Given the description of an element on the screen output the (x, y) to click on. 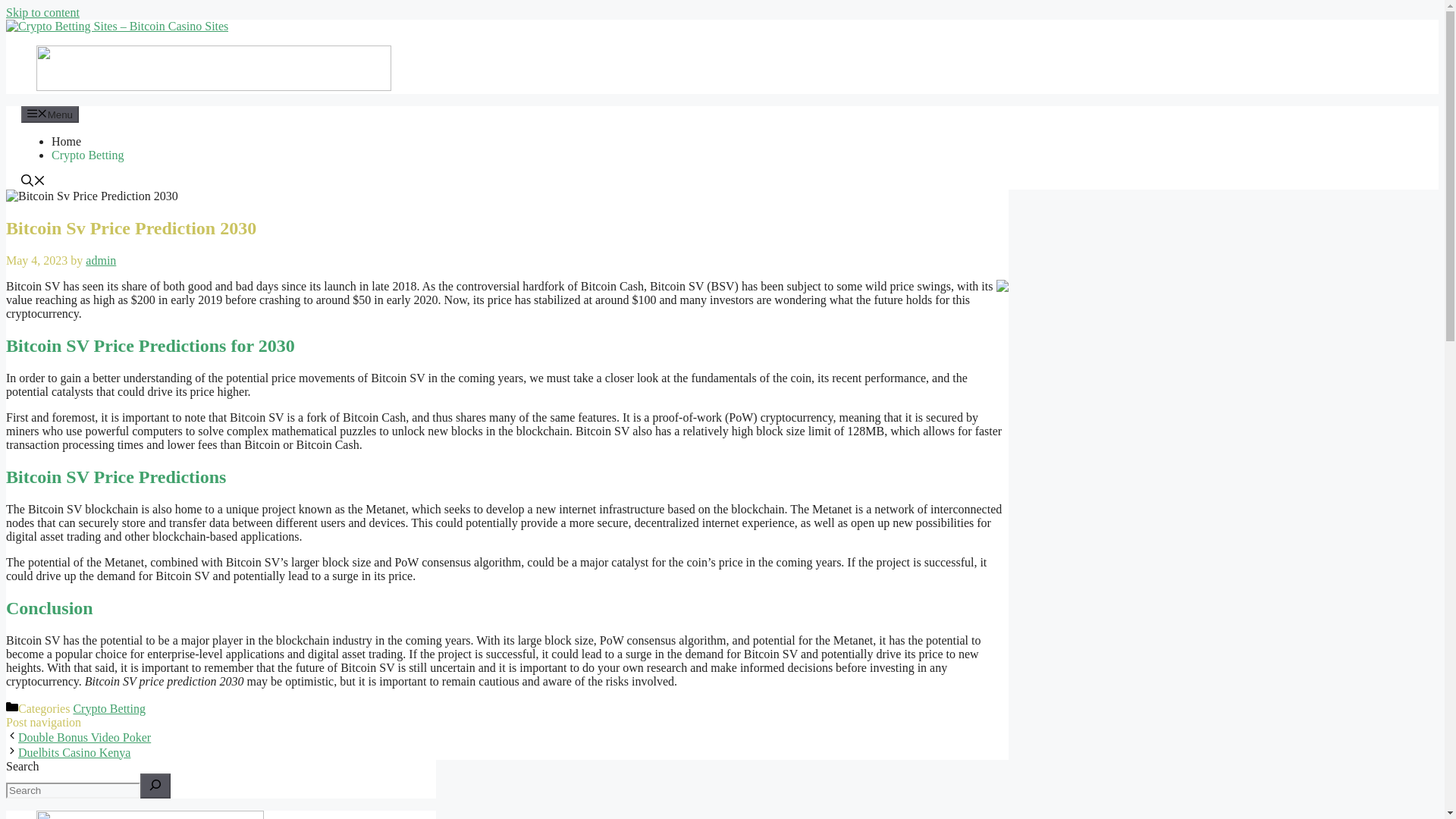
admin (100, 259)
Double Bonus Video Poker (84, 737)
Previous (84, 737)
Home (65, 141)
Skip to content (42, 11)
Skip to content (42, 11)
Next (74, 752)
Duelbits Casino Kenya (74, 752)
View all posts by admin (100, 259)
Crypto Betting (108, 707)
Crypto Betting (86, 154)
Menu (49, 114)
